Given the description of an element on the screen output the (x, y) to click on. 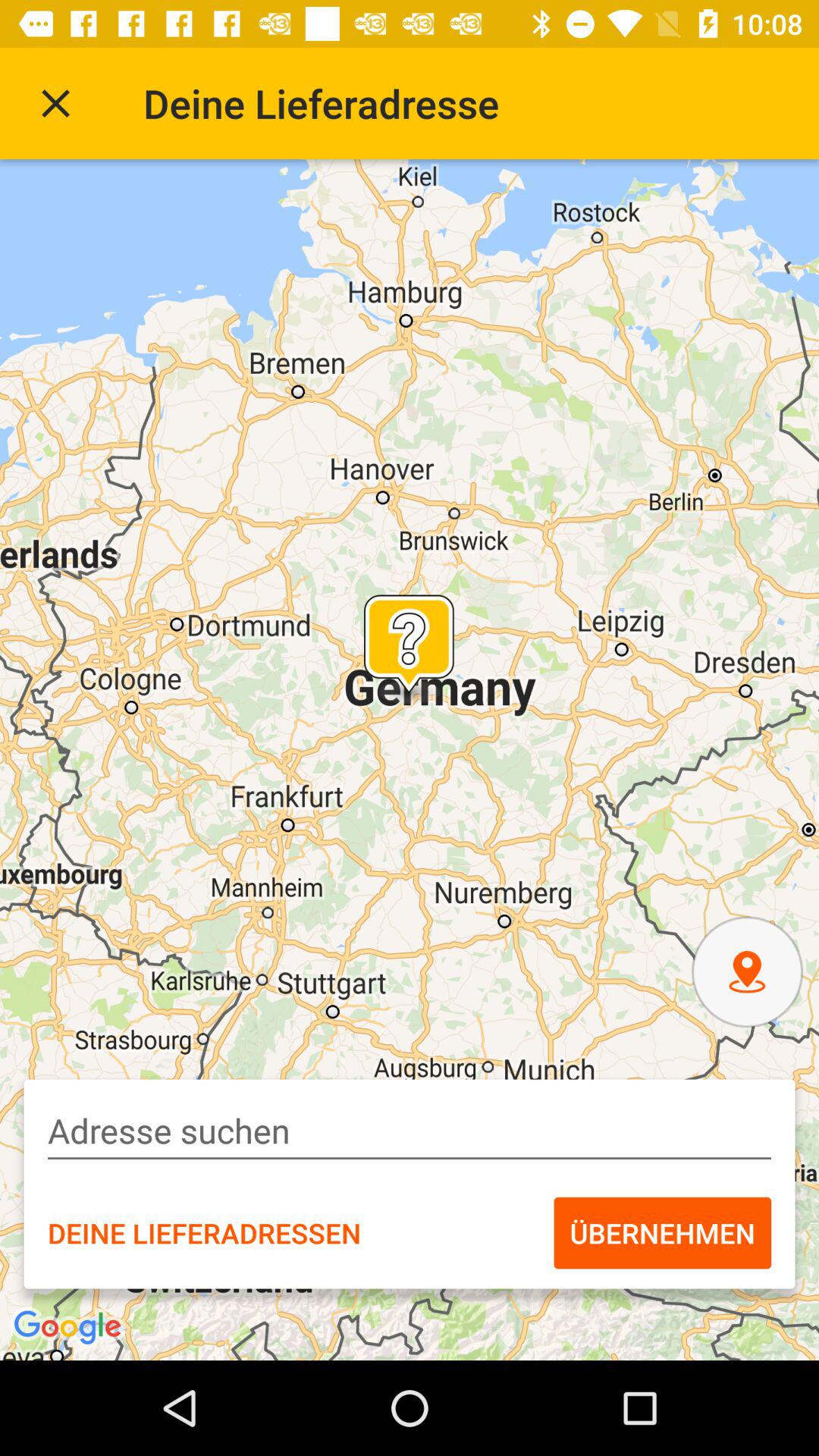
open the icon at the top left corner (55, 103)
